Given the description of an element on the screen output the (x, y) to click on. 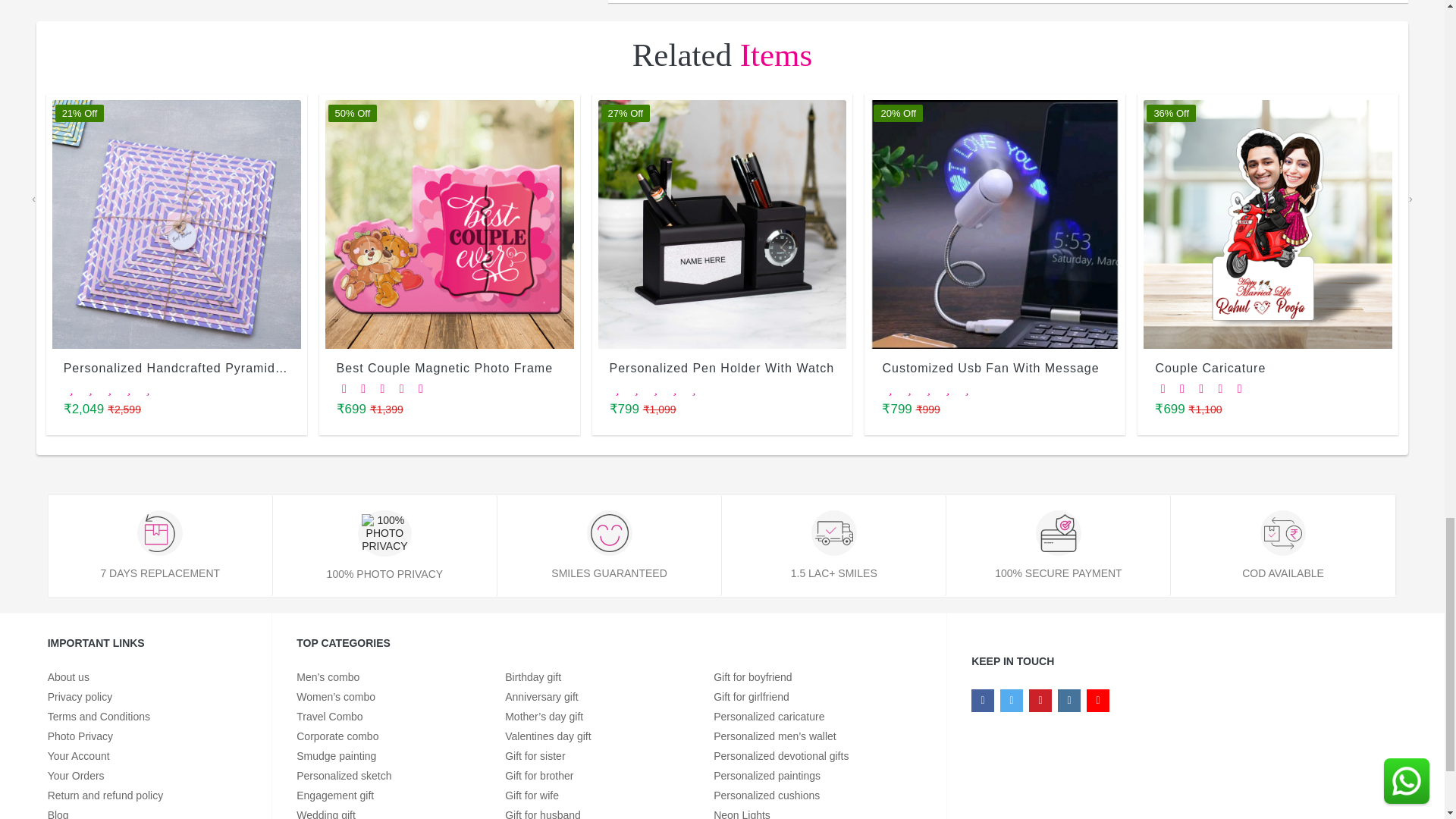
Best Couple Magnetic Photo Frame (448, 223)
Customized Usb Fan With Message (994, 223)
Couple caricature (1266, 223)
Personalized pen holder with watch (720, 223)
